Given the description of an element on the screen output the (x, y) to click on. 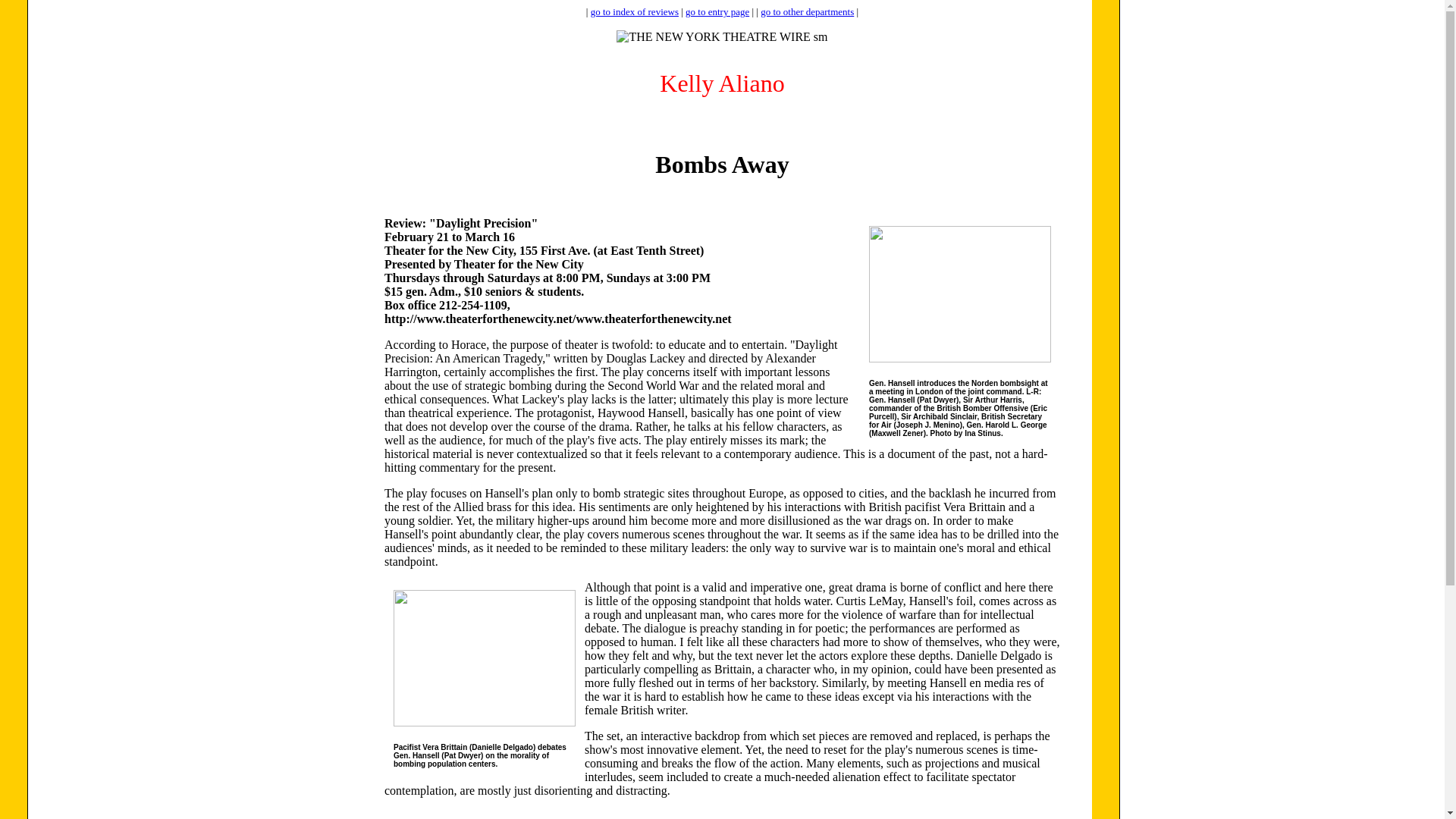
go to entry page (717, 11)
go to other departments (806, 11)
go to index of reviews (634, 11)
